Given the description of an element on the screen output the (x, y) to click on. 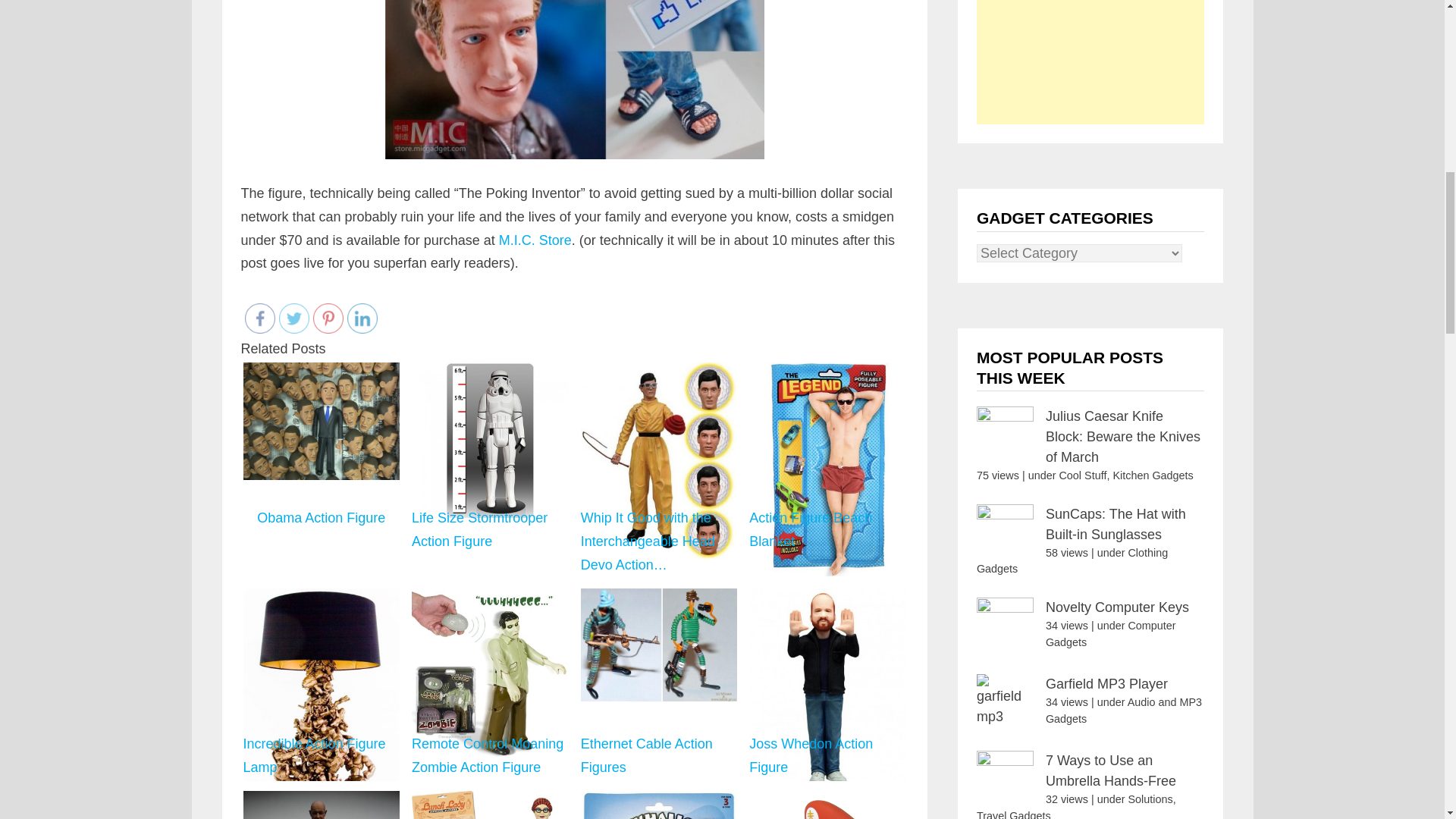
LinkedIn (362, 318)
Twitter (293, 318)
Facebook (259, 318)
Akashi is Mario Mashed Up with Mickey Mouse (827, 803)
Lost Action Figures: Move the Island (322, 803)
Remote Control Moaning Zombie Action Figure (490, 672)
Lunch Lady Action Figure (489, 803)
Life Size Stormtrooper Action Figure (490, 440)
Pinterest (327, 318)
Narwhalicorn Bendable Action Figure (658, 803)
Obama Action Figure (320, 420)
M.I.C. Store (535, 240)
zuckerberg-action-figure (574, 79)
